Given the description of an element on the screen output the (x, y) to click on. 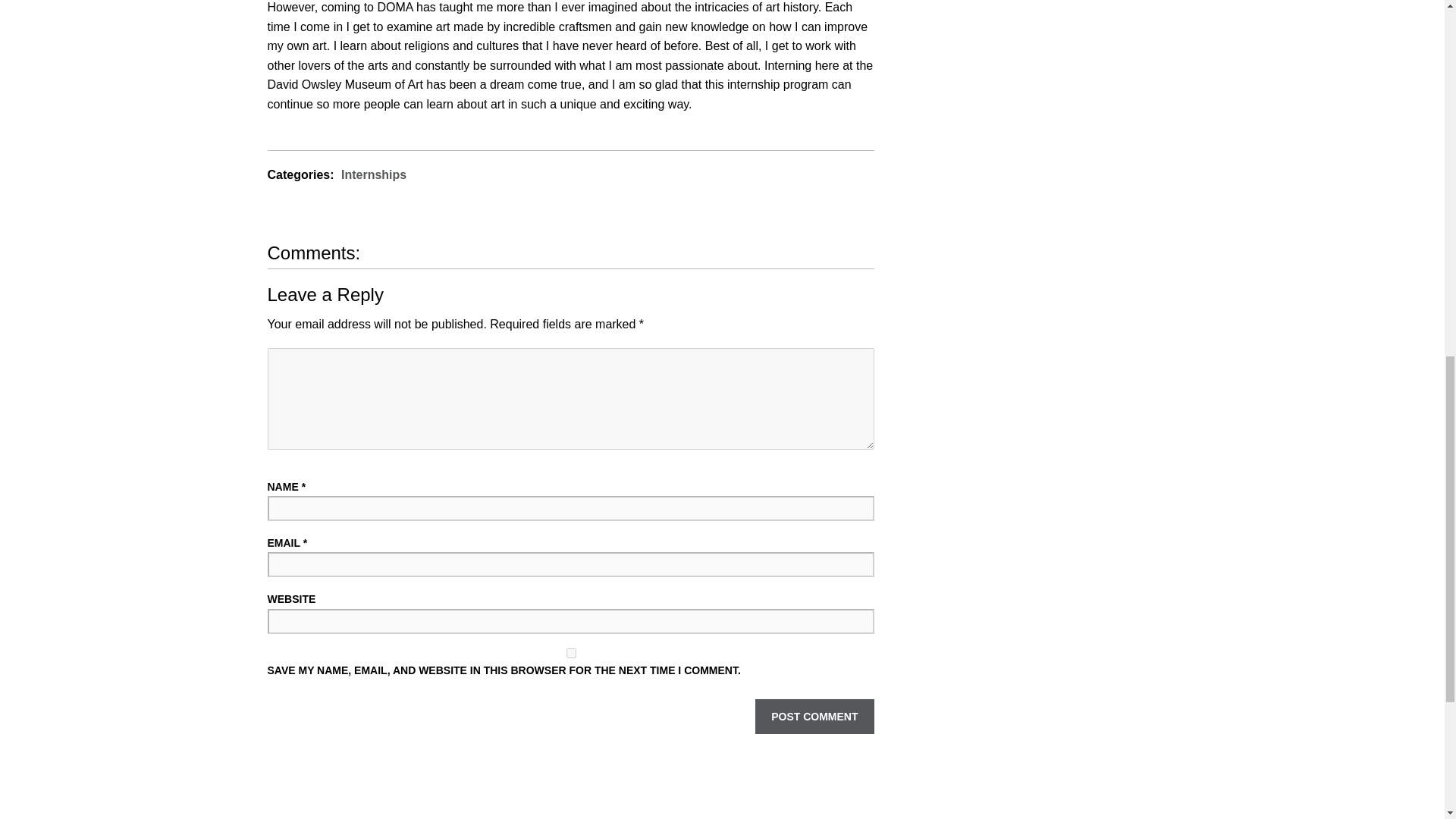
Post Comment (814, 716)
yes (569, 653)
Post Comment (814, 716)
Internships (373, 174)
